Given the description of an element on the screen output the (x, y) to click on. 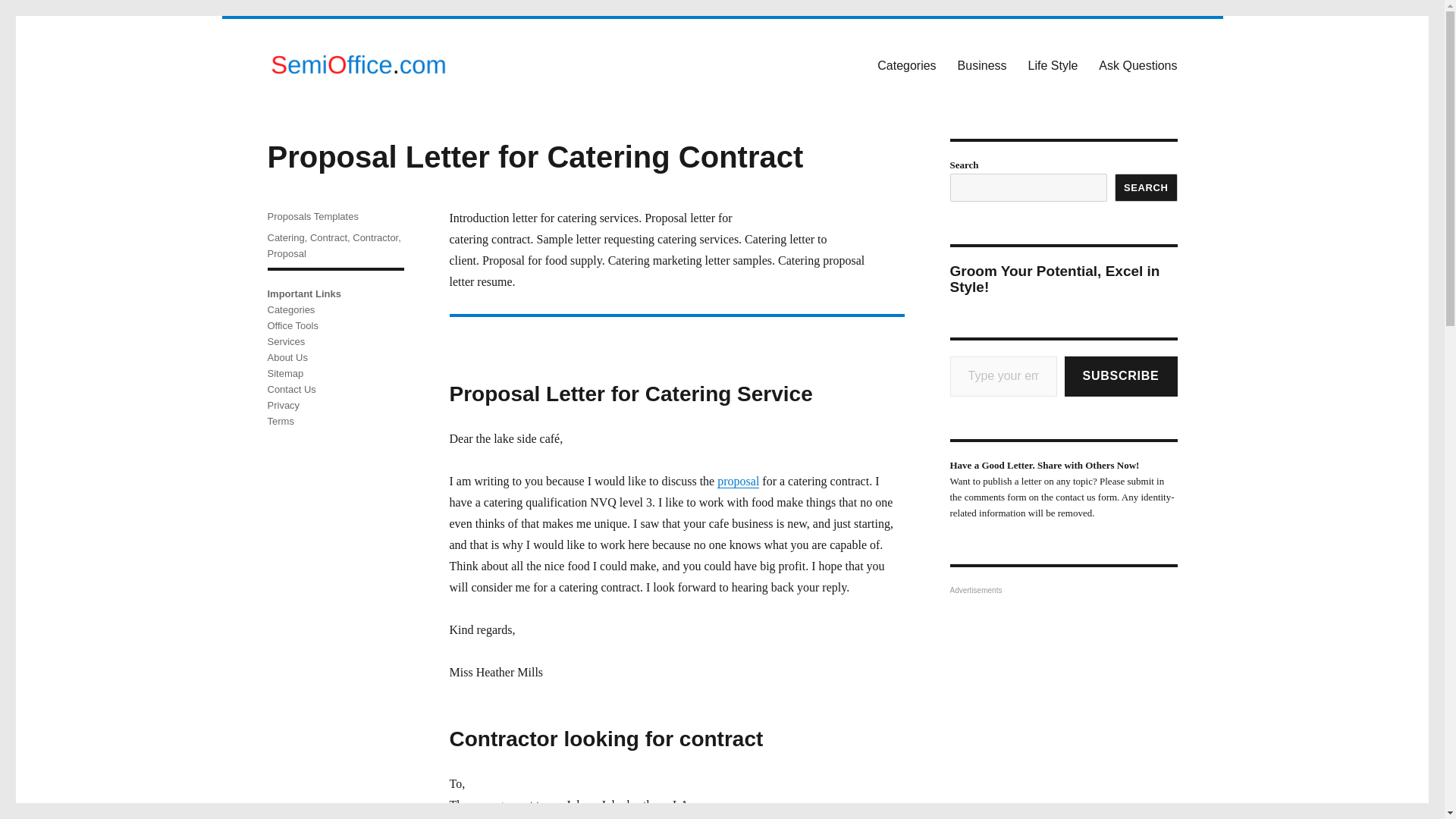
Contact Us (290, 389)
SEARCH (1146, 187)
Business (982, 65)
Please fill in this field. (1003, 376)
Contract (328, 237)
Contractor (374, 237)
Proposals Templates (312, 215)
Office Tools (291, 325)
Ask Questions (1137, 65)
Sitemap (284, 373)
Terms (280, 420)
Proposal (285, 253)
Life Style (1053, 65)
Catering (285, 237)
Categories (906, 65)
